Given the description of an element on the screen output the (x, y) to click on. 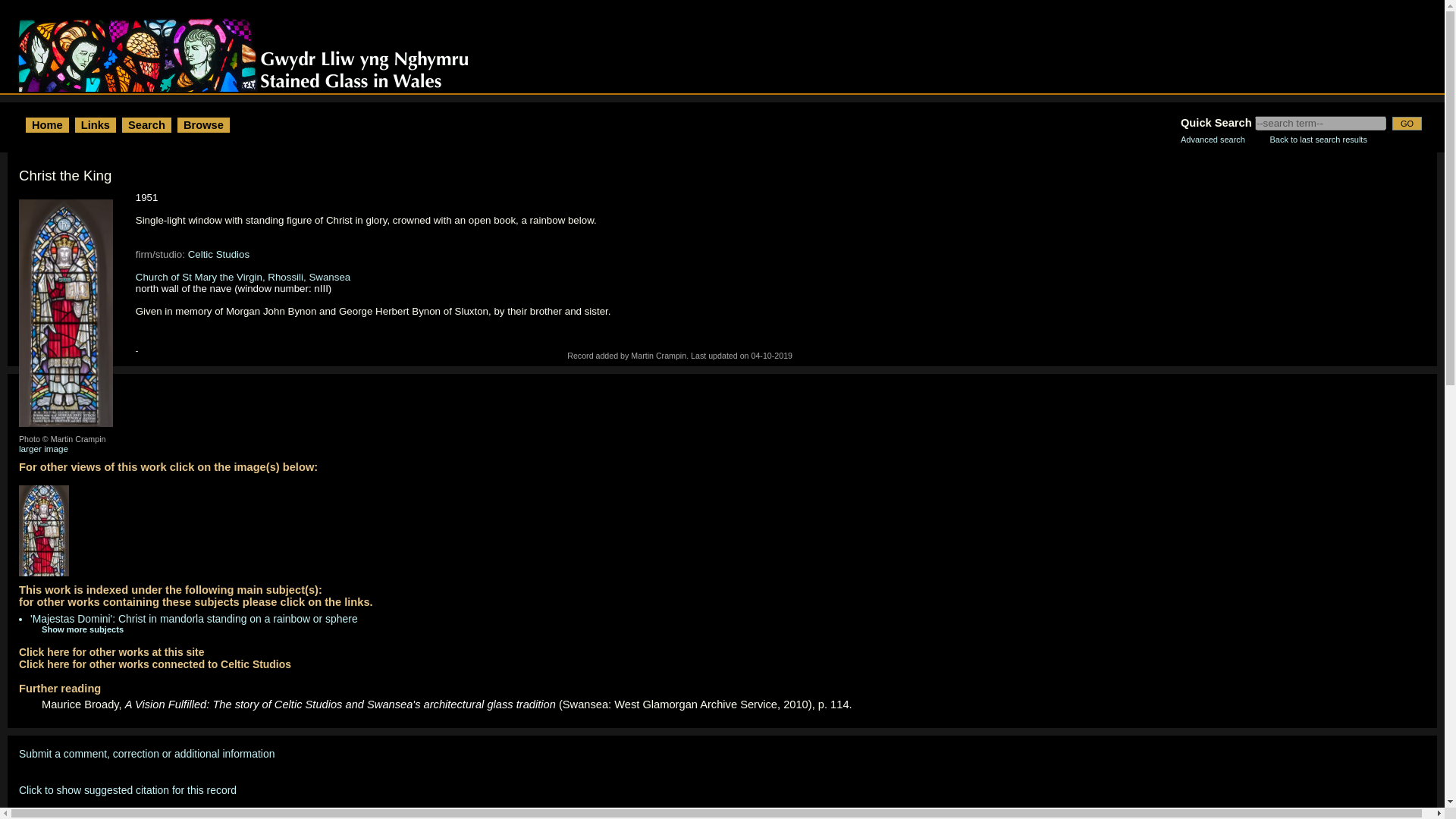
Home (47, 124)
GO (1406, 123)
Show more subjects (70, 628)
Church of St Mary the Virgin, Rhossili, Swansea (242, 276)
Browse (203, 124)
Click here for other works connected to Celtic Studios (154, 664)
Search (146, 124)
  Christ the King  (69, 316)
Back to last search results (1318, 139)
Christ the King (47, 534)
larger image (43, 448)
Click to show suggested citation for this record (126, 789)
Click here for other works at this site (110, 652)
Celtic Studios (218, 254)
Advanced search (1212, 139)
